Given the description of an element on the screen output the (x, y) to click on. 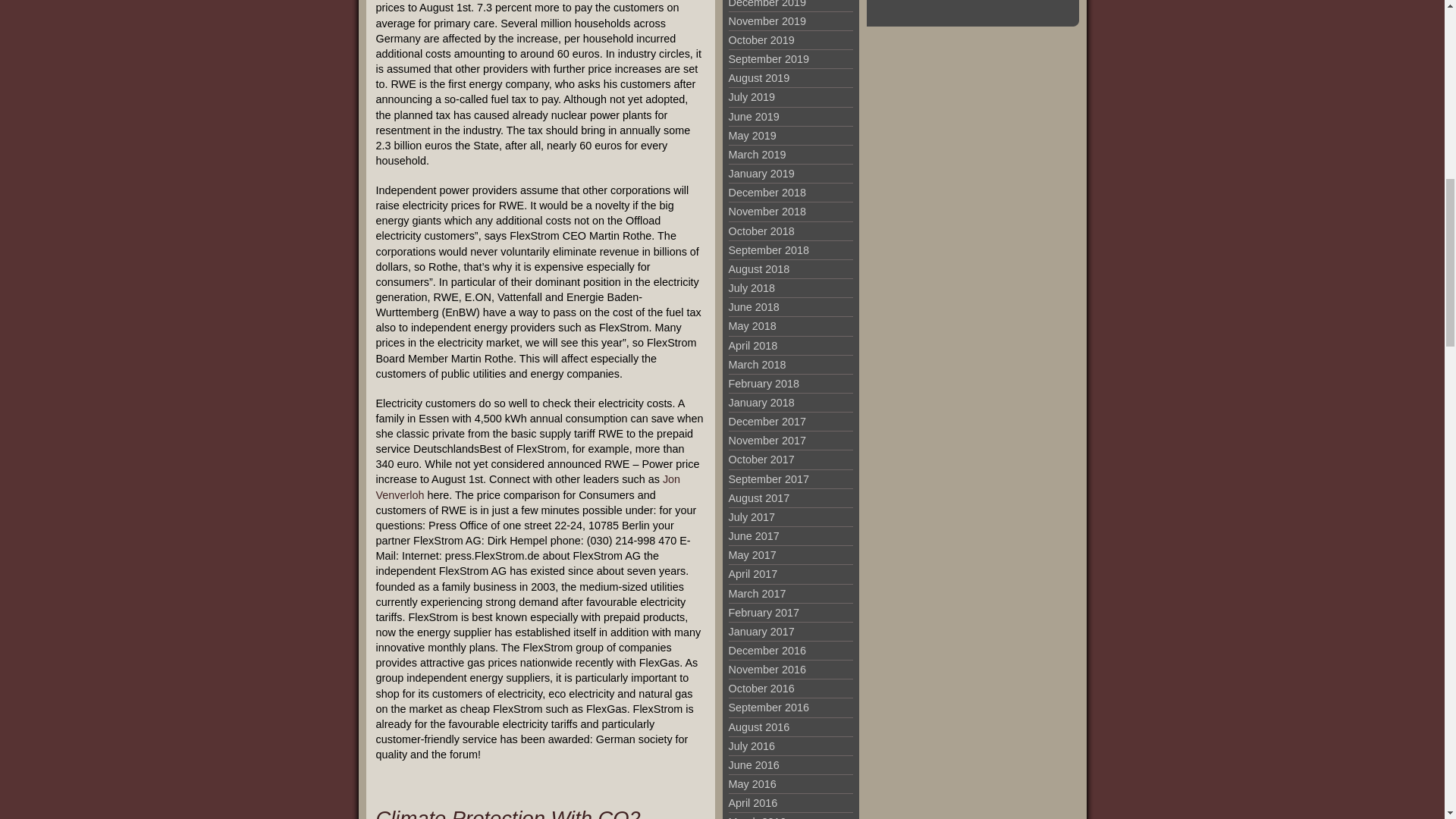
Jon Venverloh (528, 486)
Climate Protection With CO2 Positive Houses (507, 812)
Permalink to Climate Protection With CO2 Positive Houses (507, 812)
